Given the description of an element on the screen output the (x, y) to click on. 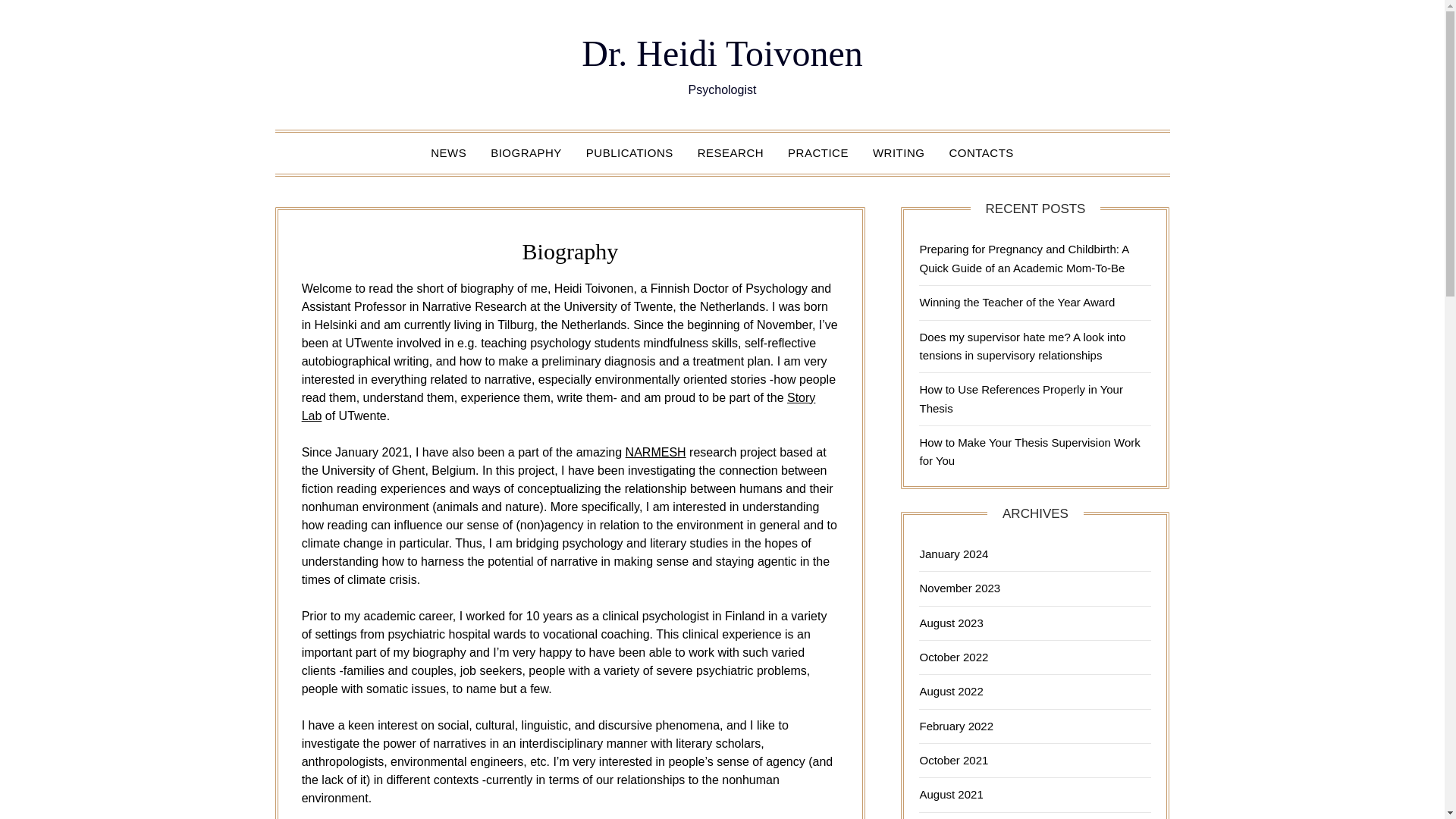
January 2024 (953, 553)
CONTACTS (980, 152)
August 2022 (950, 690)
How to Use References Properly in Your Thesis (1020, 398)
February 2022 (955, 725)
Story Lab (558, 406)
PUBLICATIONS (629, 152)
PRACTICE (818, 152)
NEWS (449, 152)
NARMESH (655, 451)
RESEARCH (730, 152)
October 2022 (953, 656)
How to Make Your Thesis Supervision Work for You (1029, 450)
Winning the Teacher of the Year Award (1016, 301)
November 2023 (959, 587)
